Given the description of an element on the screen output the (x, y) to click on. 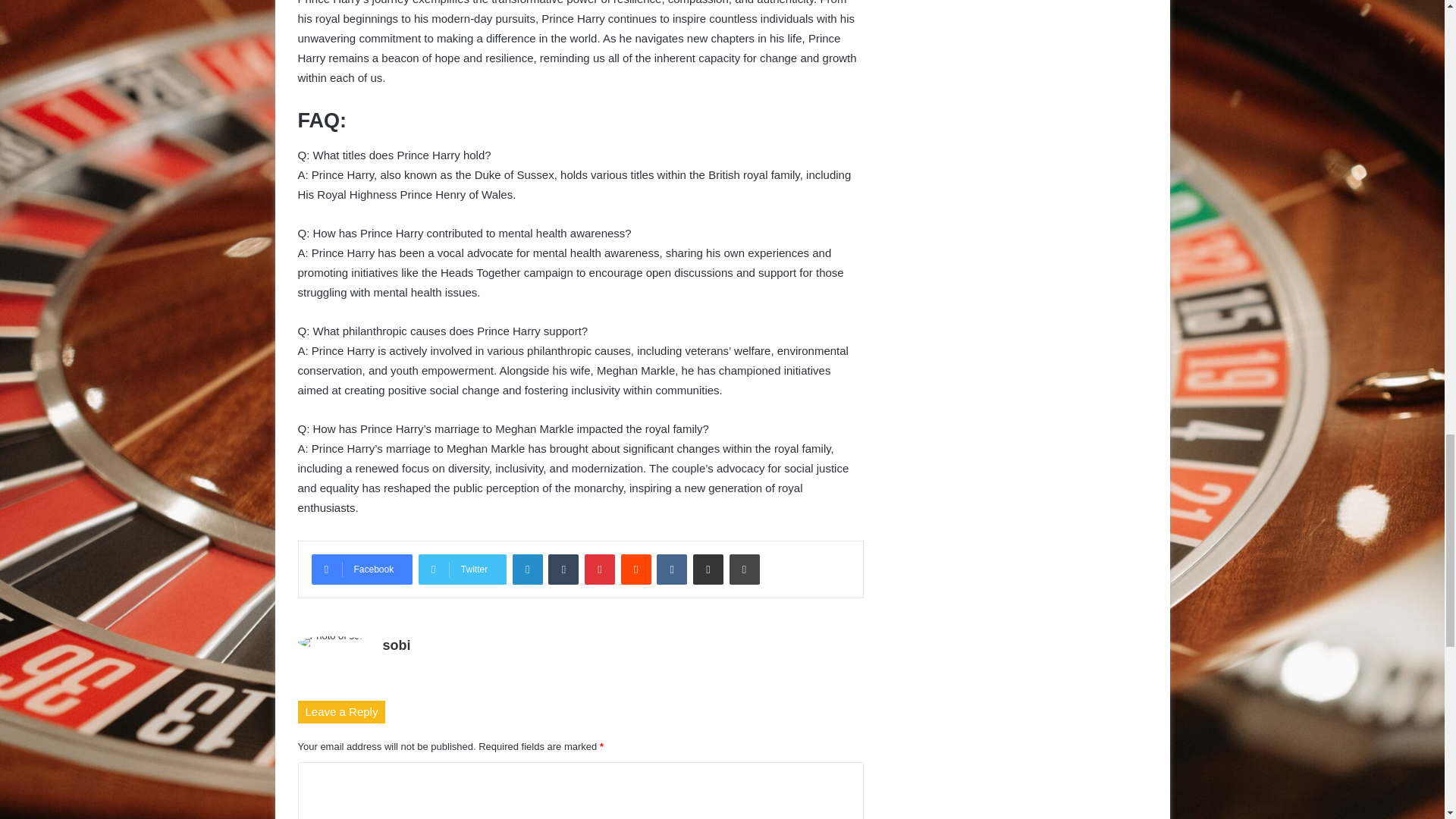
Reddit (635, 569)
Facebook (361, 569)
Print (744, 569)
Pinterest (599, 569)
Share via Email (708, 569)
LinkedIn (527, 569)
sobi (395, 645)
Share via Email (708, 569)
Print (744, 569)
Facebook (361, 569)
Pinterest (599, 569)
Tumblr (563, 569)
VKontakte (671, 569)
Reddit (635, 569)
VKontakte (671, 569)
